Given the description of an element on the screen output the (x, y) to click on. 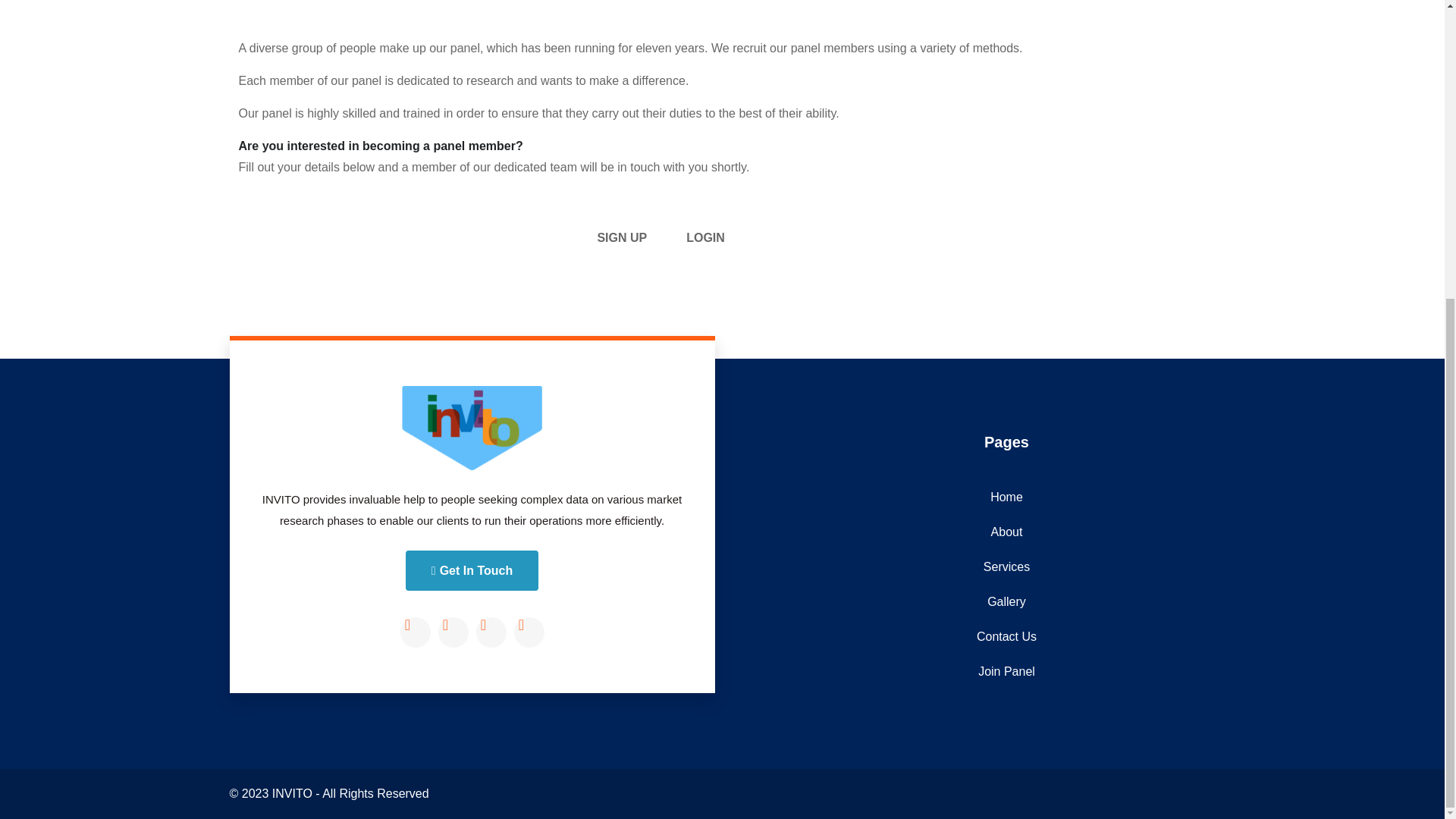
Home (1005, 497)
Get In Touch (472, 570)
About (1005, 532)
Join Panel (1005, 671)
Services (1005, 566)
Contact Us (1005, 636)
Gallery (1005, 601)
